Given the description of an element on the screen output the (x, y) to click on. 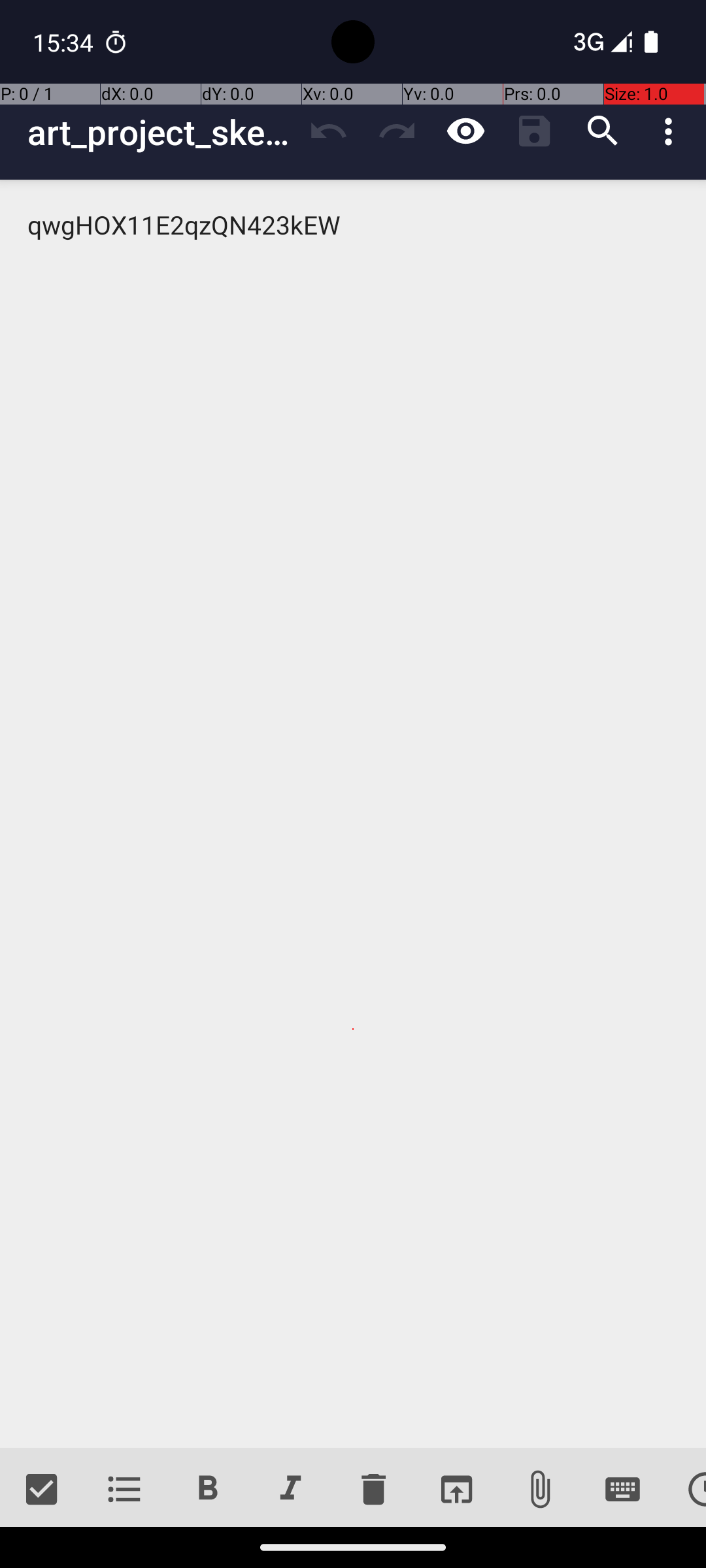
art_project_sketches_2023_01_11 Element type: android.widget.TextView (160, 131)
qwgHOX11E2qzQN423kEW
 Element type: android.widget.EditText (353, 813)
